Given the description of an element on the screen output the (x, y) to click on. 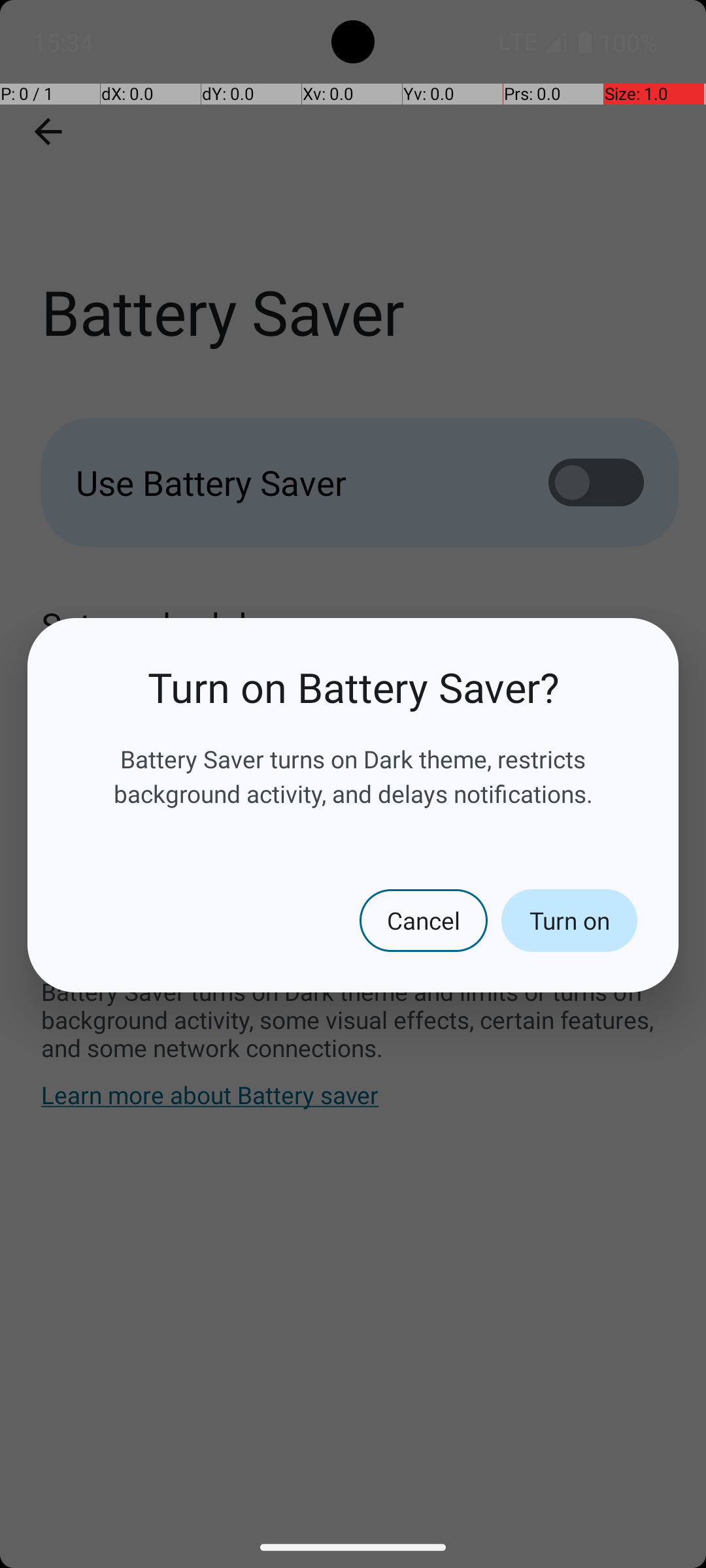
Turn on Battery Saver? Element type: android.widget.TextView (352, 686)
Battery Saver turns on Dark theme, restricts background activity, and delays notifications. Element type: android.widget.TextView (352, 776)
Turn on Element type: android.widget.Button (569, 920)
